Given the description of an element on the screen output the (x, y) to click on. 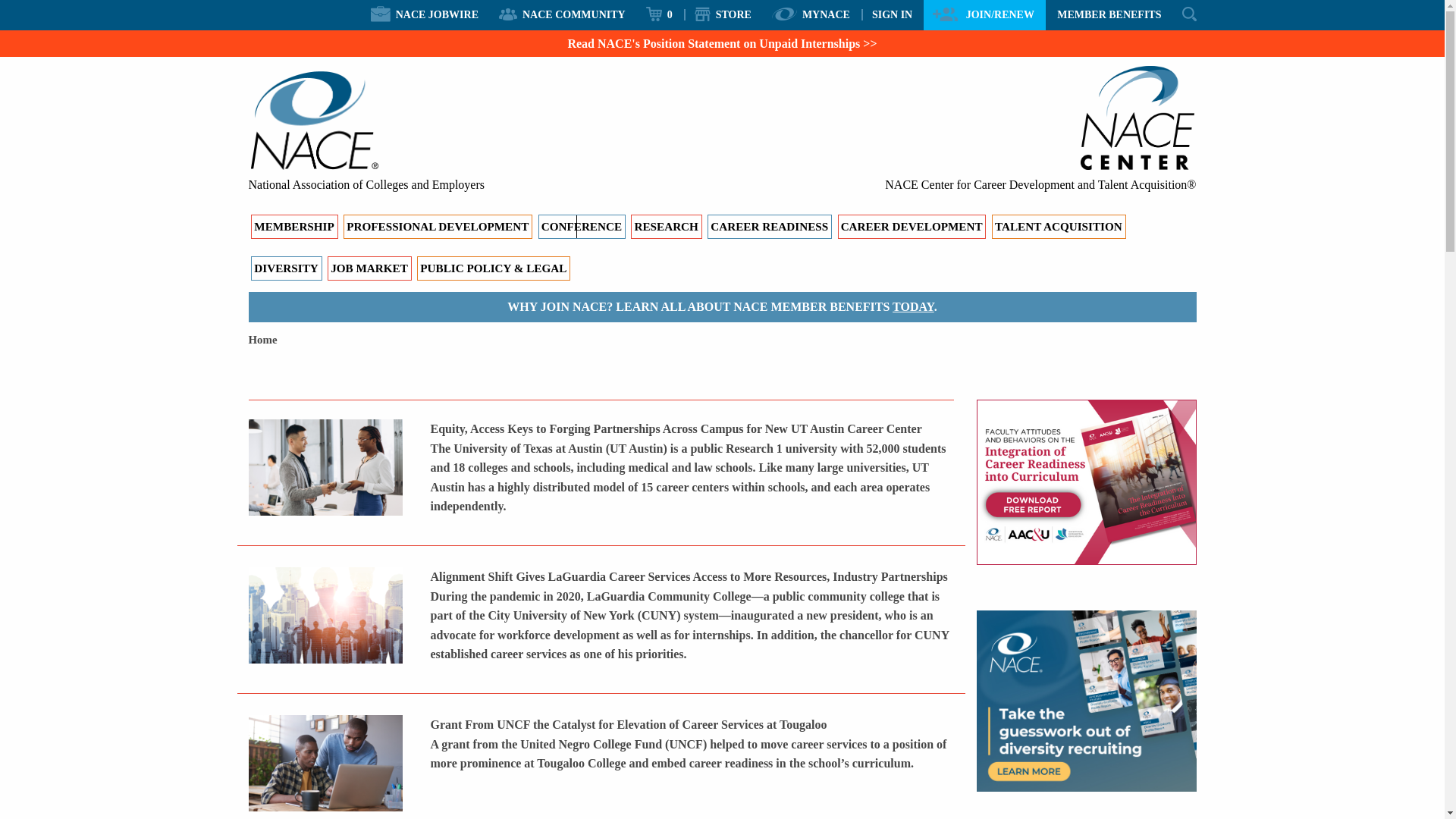
CONFERENCE (582, 226)
MEMBERSHIP (293, 226)
0 (659, 14)
NACE COMMUNITY (562, 14)
MYNACE (810, 14)
STORE (722, 14)
SIGN IN (892, 14)
PROFESSIONAL DEVELOPMENT (437, 226)
MEMBER BENEFITS (1108, 14)
NACE JOBWIRE (425, 14)
RESEARCH (665, 226)
